Given the description of an element on the screen output the (x, y) to click on. 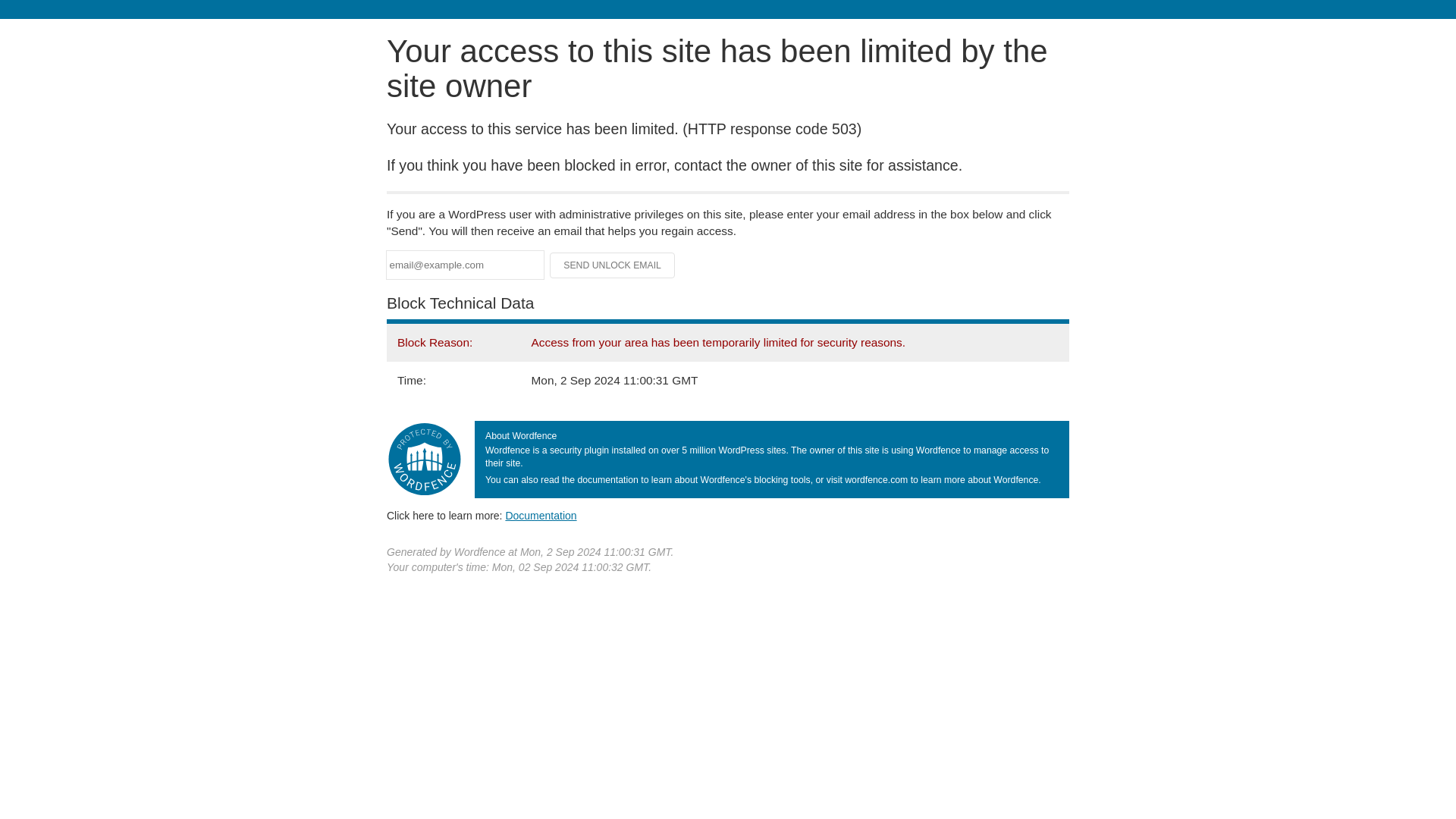
Send Unlock Email (612, 265)
Documentation (540, 515)
Send Unlock Email (612, 265)
